Given the description of an element on the screen output the (x, y) to click on. 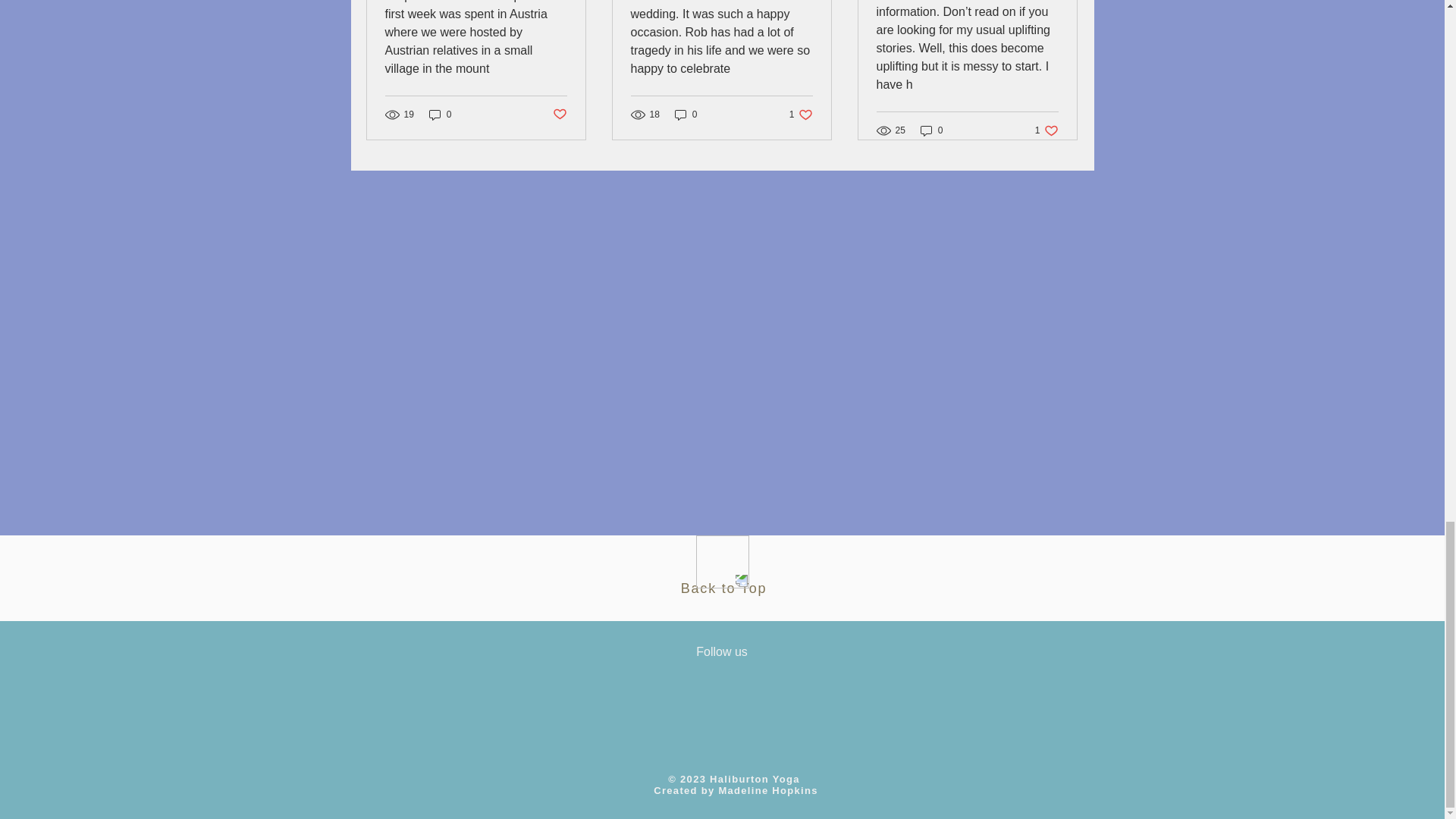
0 (931, 129)
0 (800, 114)
0 (685, 114)
Back to Top (440, 114)
Post not marked as liked (724, 588)
